Given the description of an element on the screen output the (x, y) to click on. 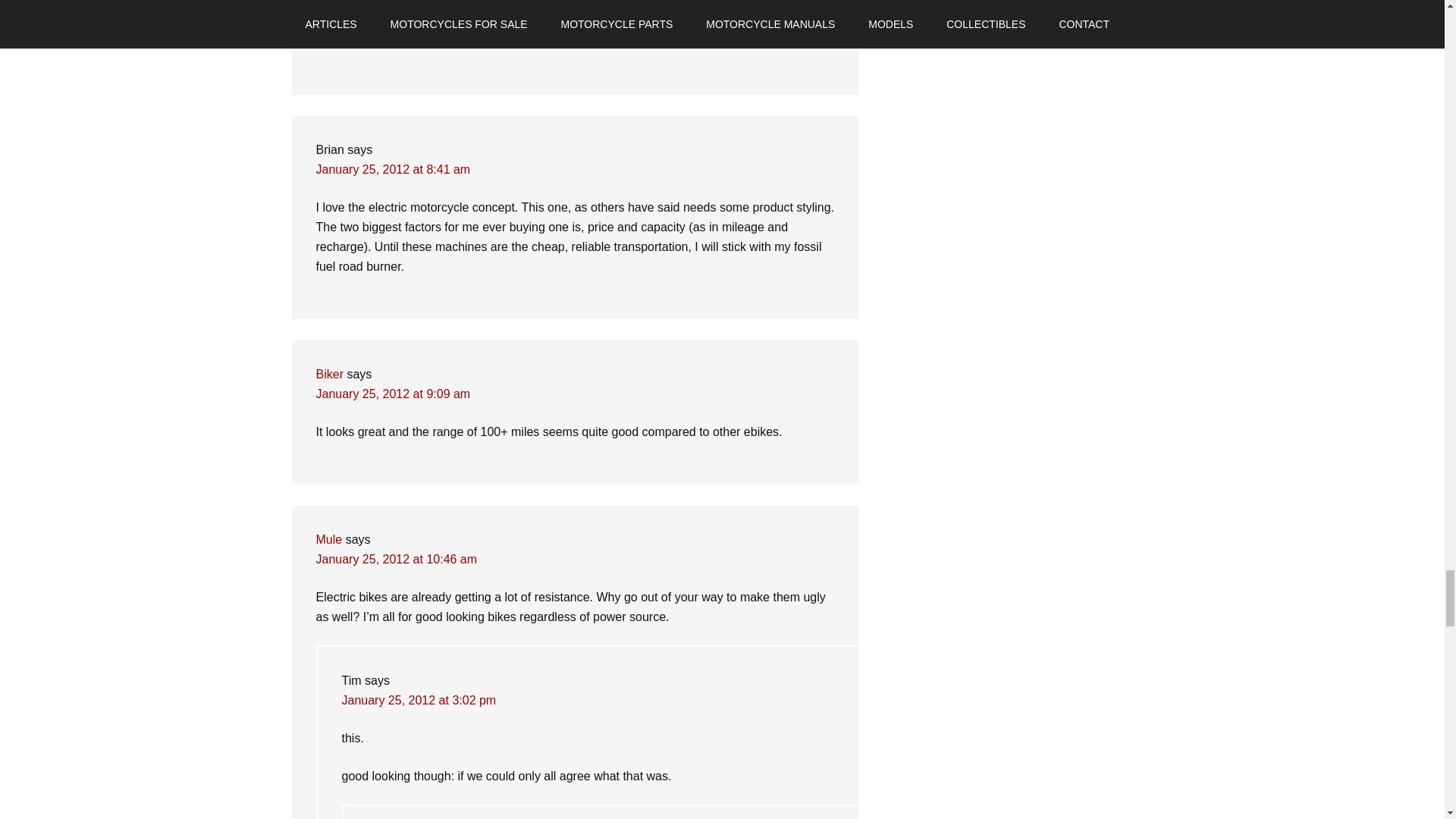
Biker (328, 373)
Mule (328, 539)
January 25, 2012 at 8:41 am (392, 169)
January 25, 2012 at 8:09 am (392, 5)
January 25, 2012 at 9:09 am (392, 393)
